Given the description of an element on the screen output the (x, y) to click on. 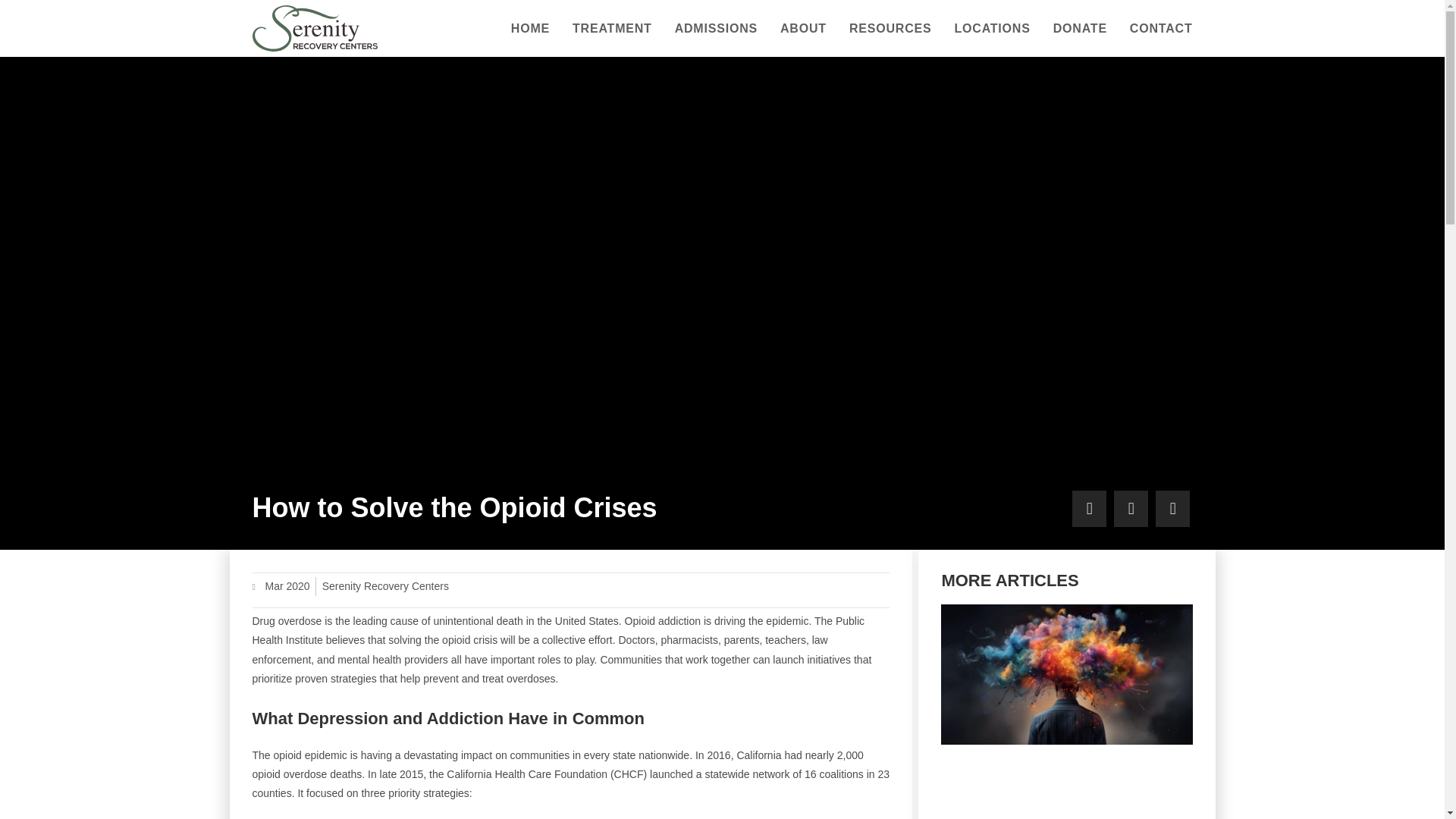
DONATE (1079, 27)
CONTACT (1160, 27)
TREATMENT (612, 27)
LOCATIONS (991, 27)
ADMISSIONS (716, 27)
RESOURCES (889, 27)
